Given the description of an element on the screen output the (x, y) to click on. 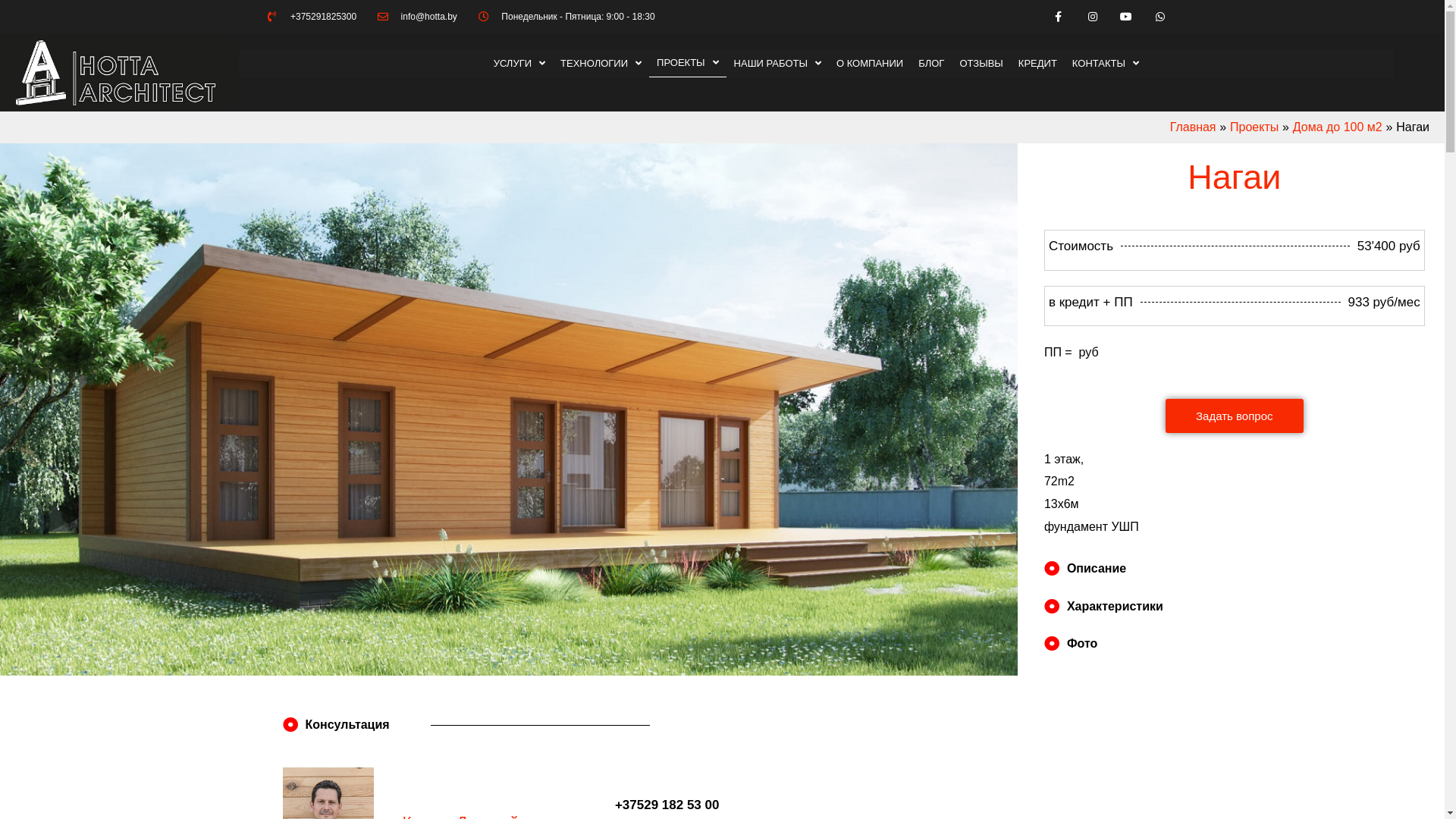
+37529 182 53 00 Element type: text (659, 804)
info@hotta.by Element type: text (417, 16)
+375291825300 Element type: text (311, 16)
